Given the description of an element on the screen output the (x, y) to click on. 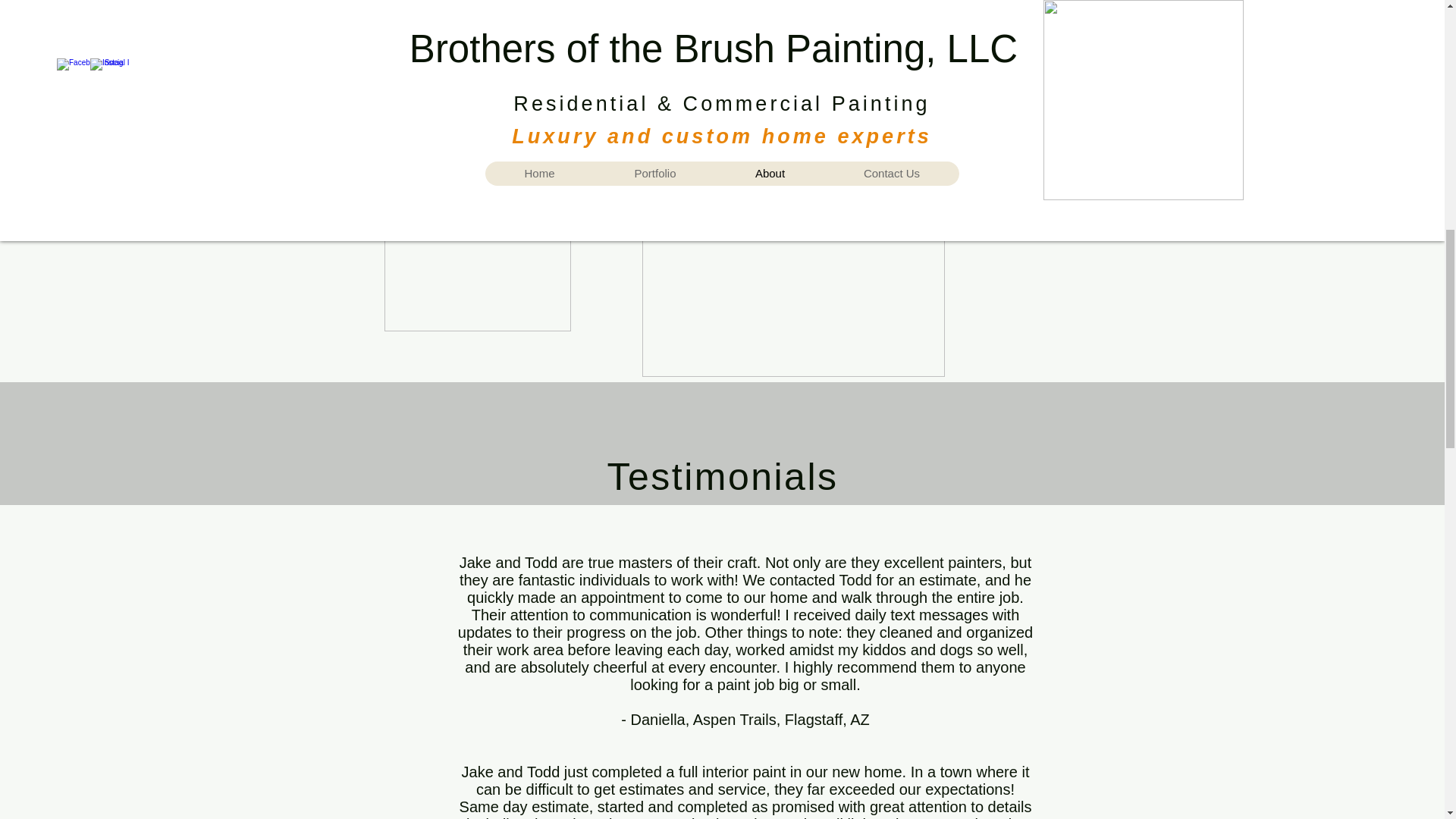
BrothersoftheBrush-47.jpg (792, 275)
BrothersoftheBrush-89.jpg (477, 190)
BrothersoftheBrush-103.jpg (538, 8)
BrothersoftheBrush-79.jpg (923, 77)
